Given the description of an element on the screen output the (x, y) to click on. 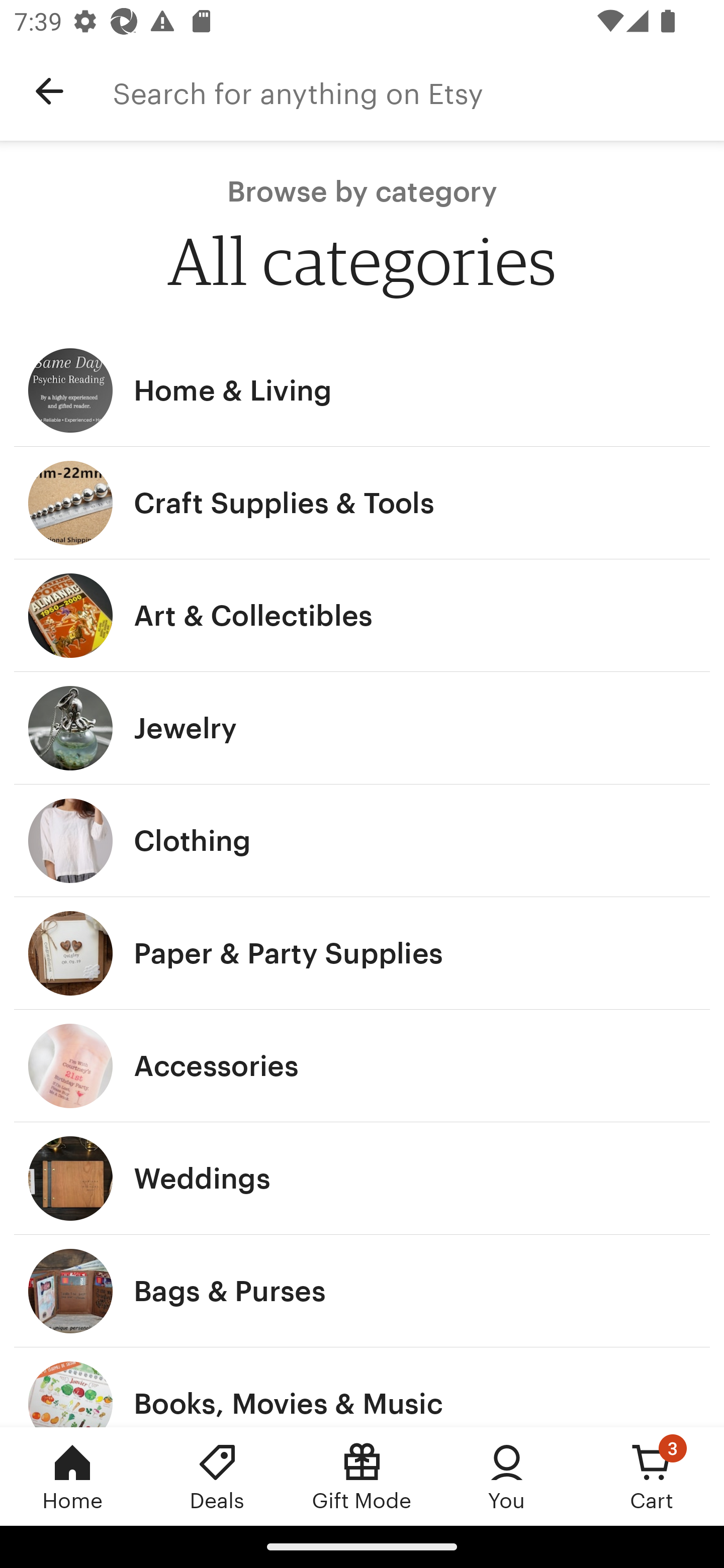
Navigate up (49, 91)
Search for anything on Etsy (418, 91)
Home & Living (361, 389)
Craft Supplies & Tools (361, 502)
Art & Collectibles (361, 615)
Jewelry (361, 728)
Clothing (361, 840)
Paper & Party Supplies (361, 952)
Accessories (361, 1065)
Weddings (361, 1178)
Bags & Purses (361, 1290)
Books, Movies & Music (361, 1386)
Deals (216, 1475)
Gift Mode (361, 1475)
You (506, 1475)
Cart, 3 new notifications Cart (651, 1475)
